Given the description of an element on the screen output the (x, y) to click on. 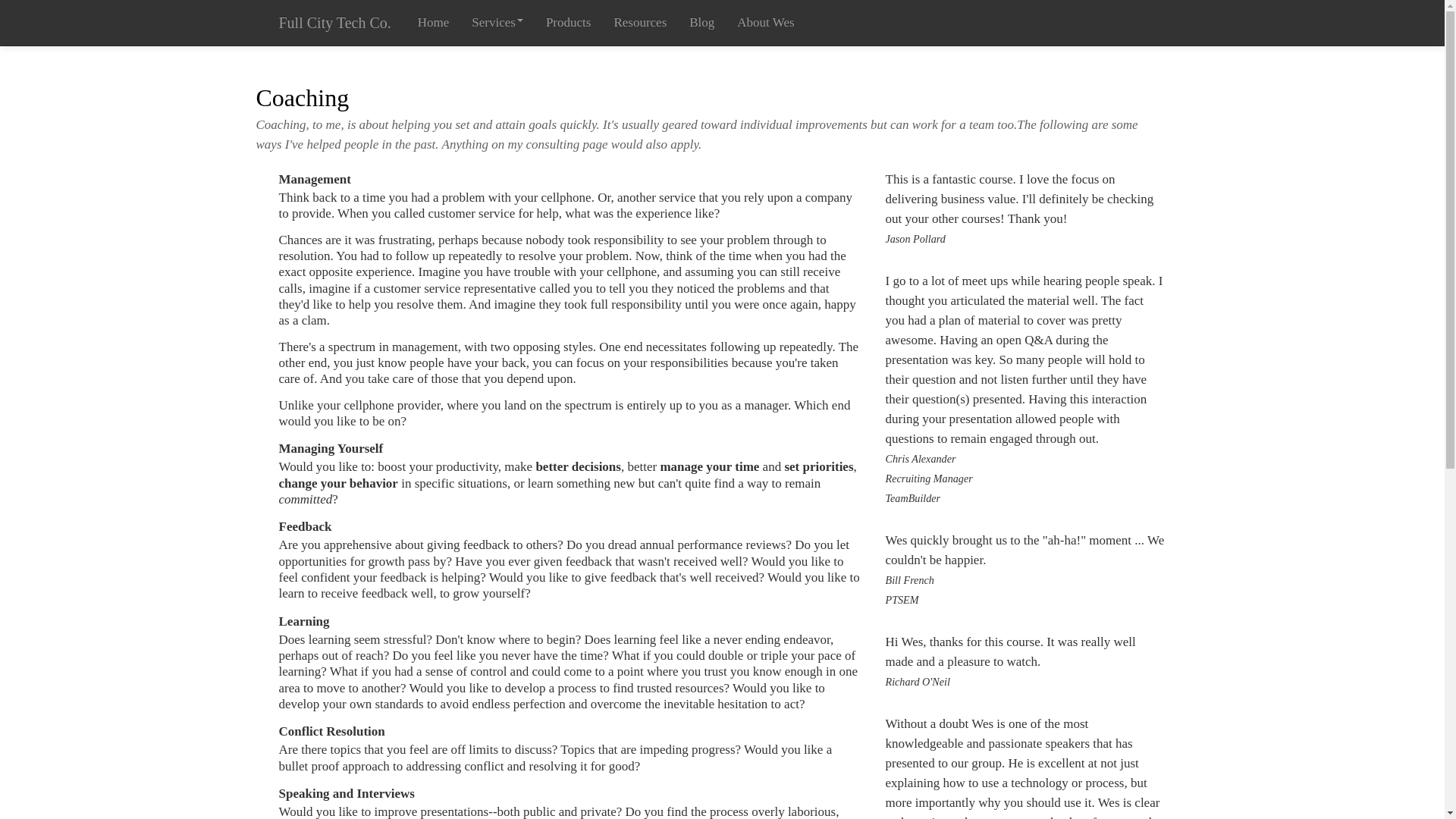
Blog (701, 22)
Products (568, 22)
Full City Tech Co. (334, 22)
Services (497, 22)
Resources (640, 22)
About Wes (765, 22)
Home (433, 22)
